Given the description of an element on the screen output the (x, y) to click on. 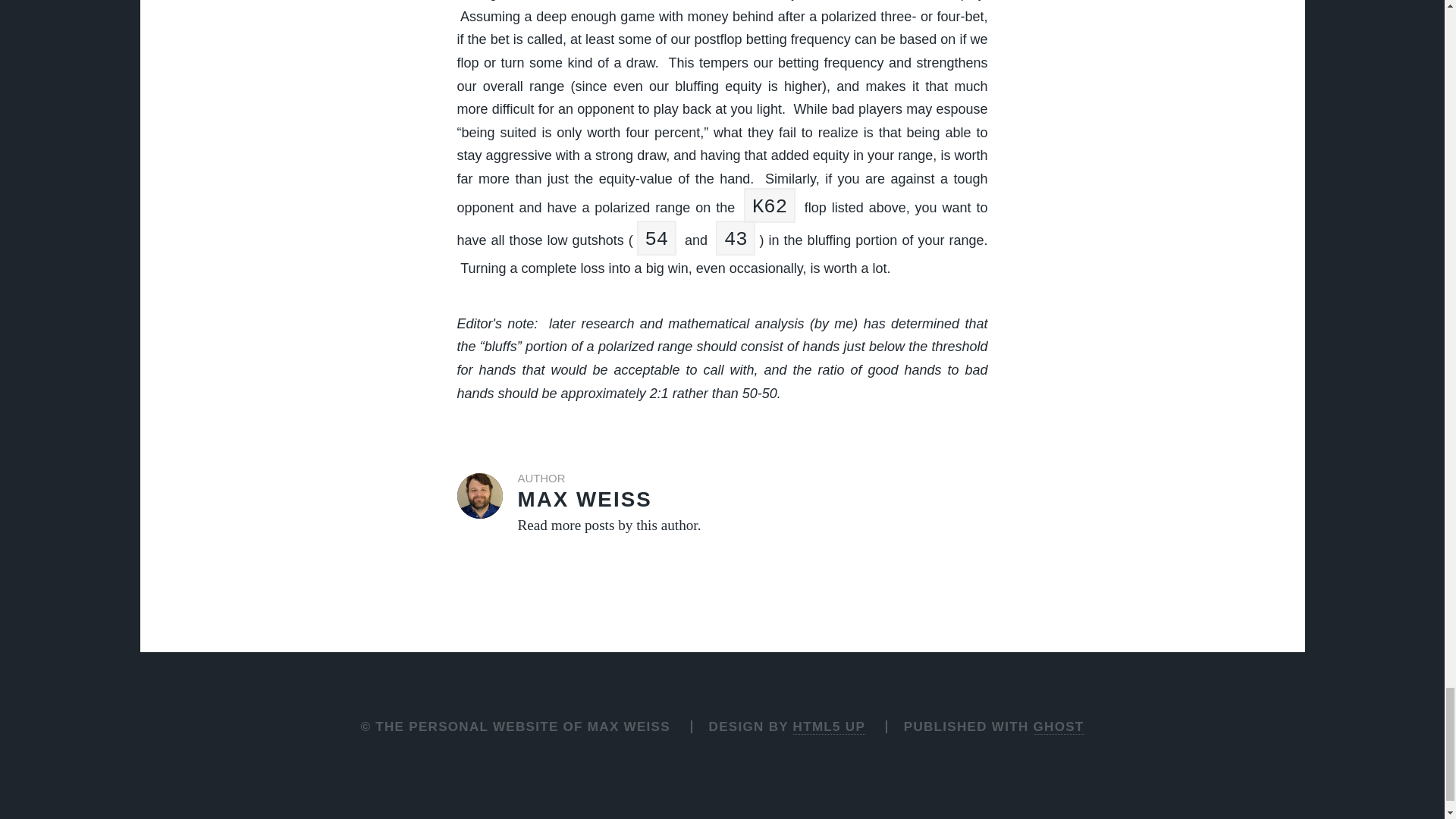
GHOST (1058, 726)
HTML5 UP (828, 726)
